Given the description of an element on the screen output the (x, y) to click on. 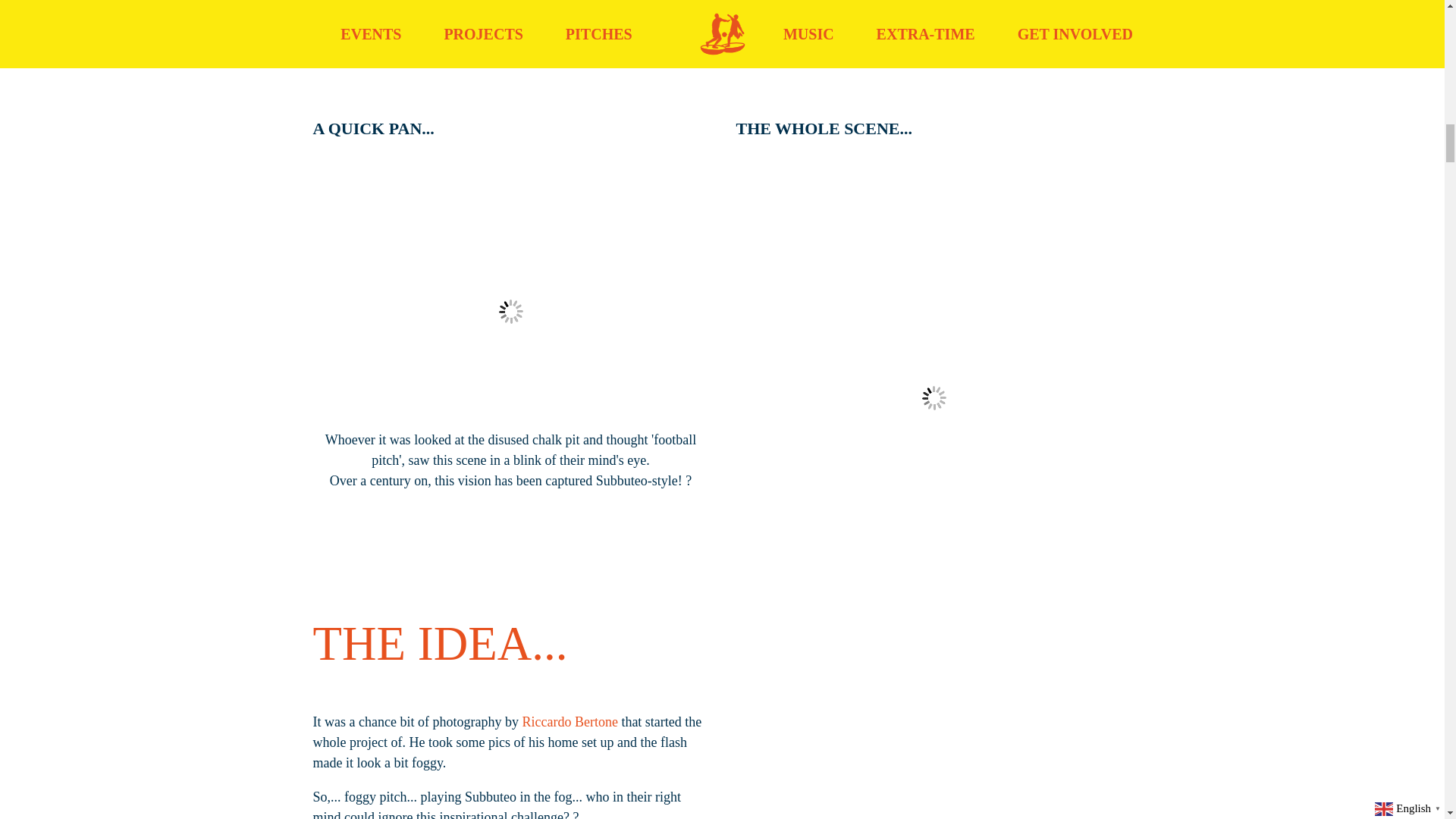
Valley quick pan (510, 311)
Riccardo Bertone (569, 721)
